Given the description of an element on the screen output the (x, y) to click on. 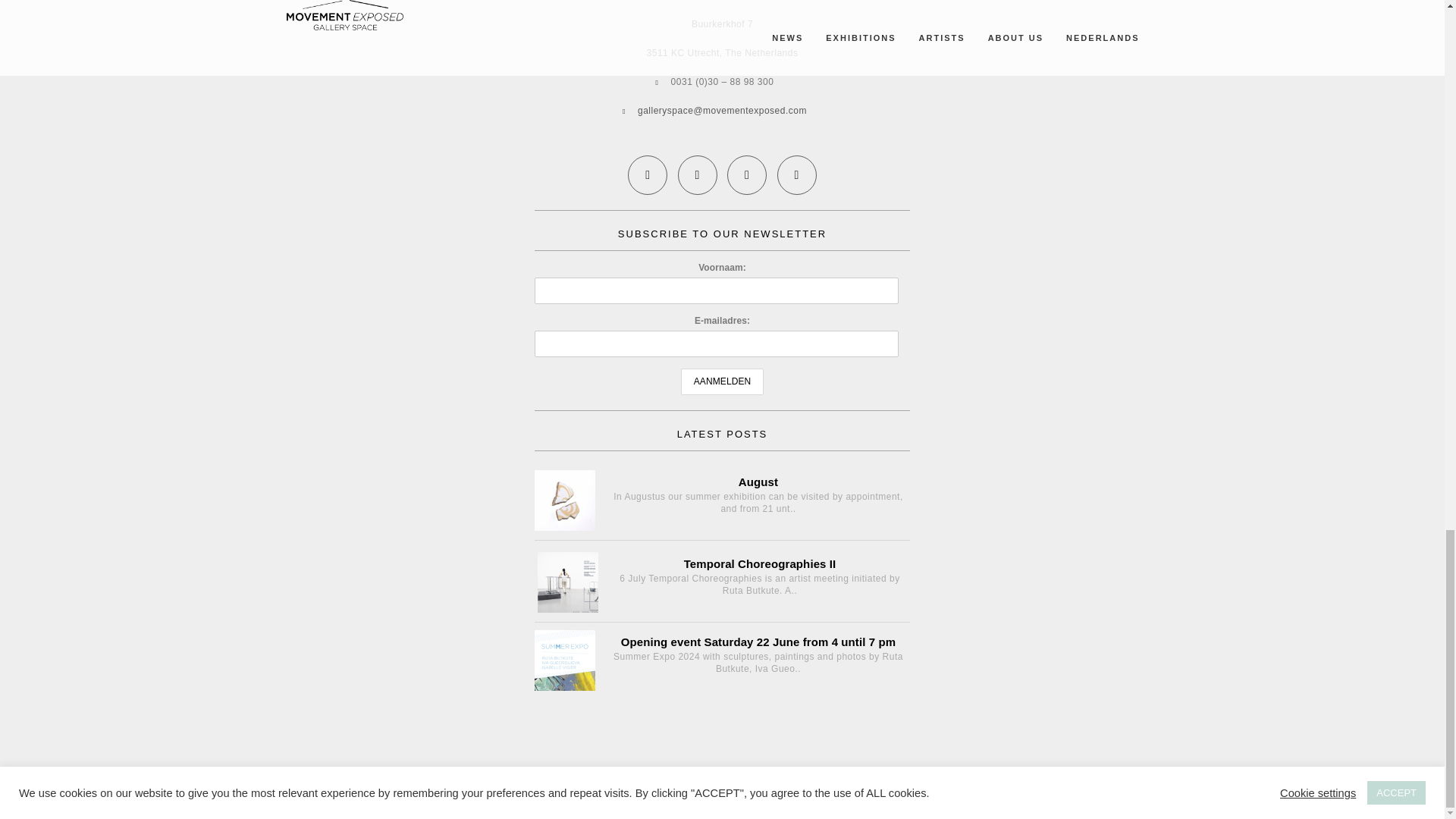
Opening event Saturday 22 June from 4 until 7 pm (722, 637)
Facebook (647, 175)
LinkedIn (697, 175)
AANMELDEN (722, 381)
Instagram (796, 175)
Temporal Choreographies II (567, 582)
Temporal Choreographies II (723, 558)
August (564, 500)
August (722, 477)
Opening event Saturday 22 June from 4 until 7 pm (564, 660)
Youtube (746, 175)
